Given the description of an element on the screen output the (x, y) to click on. 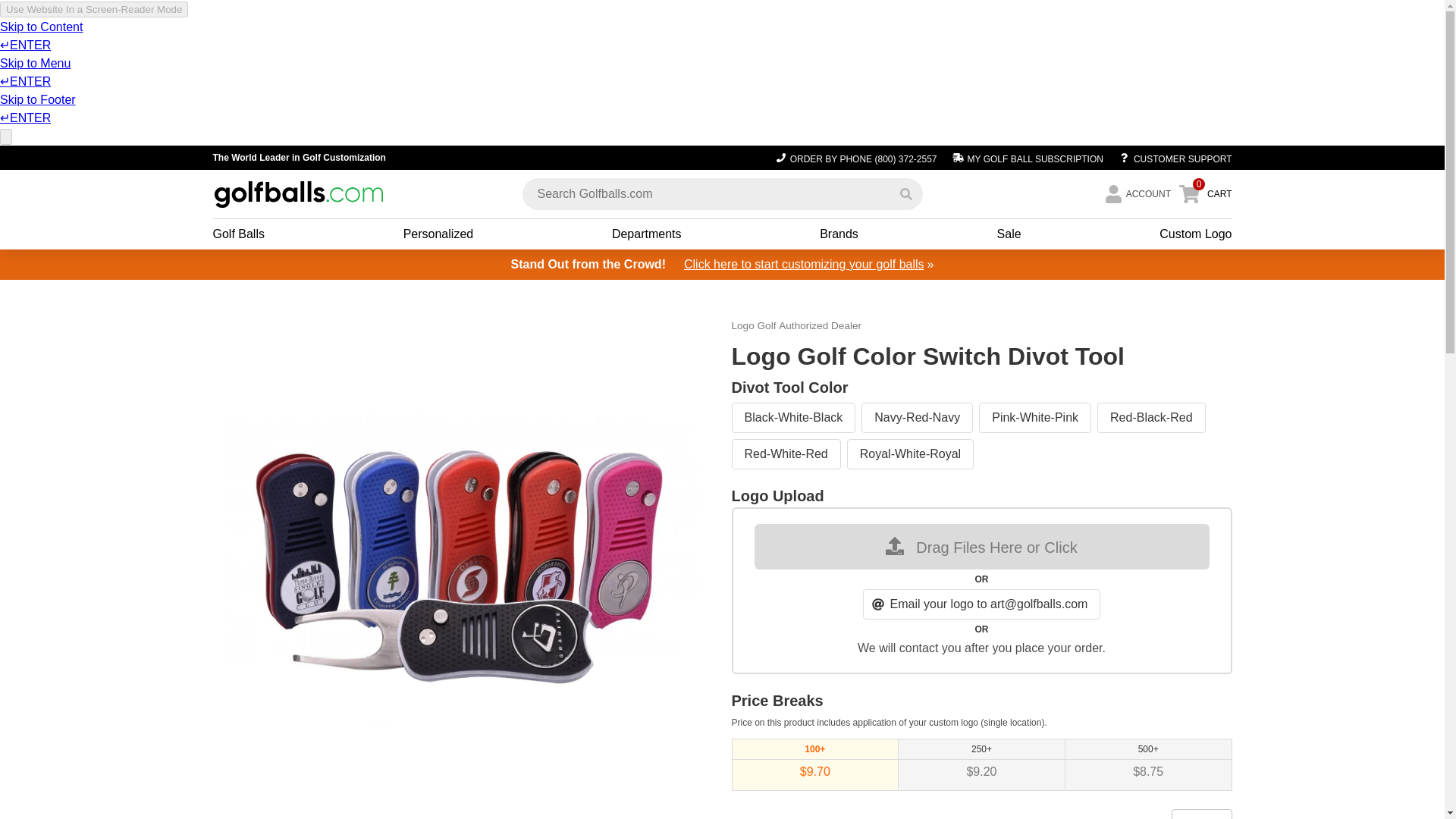
Pink-White-Pink (1034, 417)
Red-Black-Red (1151, 417)
Custom Logo (1194, 233)
Red-White-Red (785, 453)
Golf Balls (237, 233)
CUSTOMER SUPPORT (1170, 157)
MY GOLF BALL SUBSCRIPTION (1026, 157)
Personalized (438, 233)
Black-White-Black (793, 417)
Navy-Red-Navy (916, 417)
100 (1200, 814)
Click here to start customizing your golf balls (804, 264)
Royal-White-Royal (910, 453)
Sale (1009, 233)
Brands (839, 233)
